Given the description of an element on the screen output the (x, y) to click on. 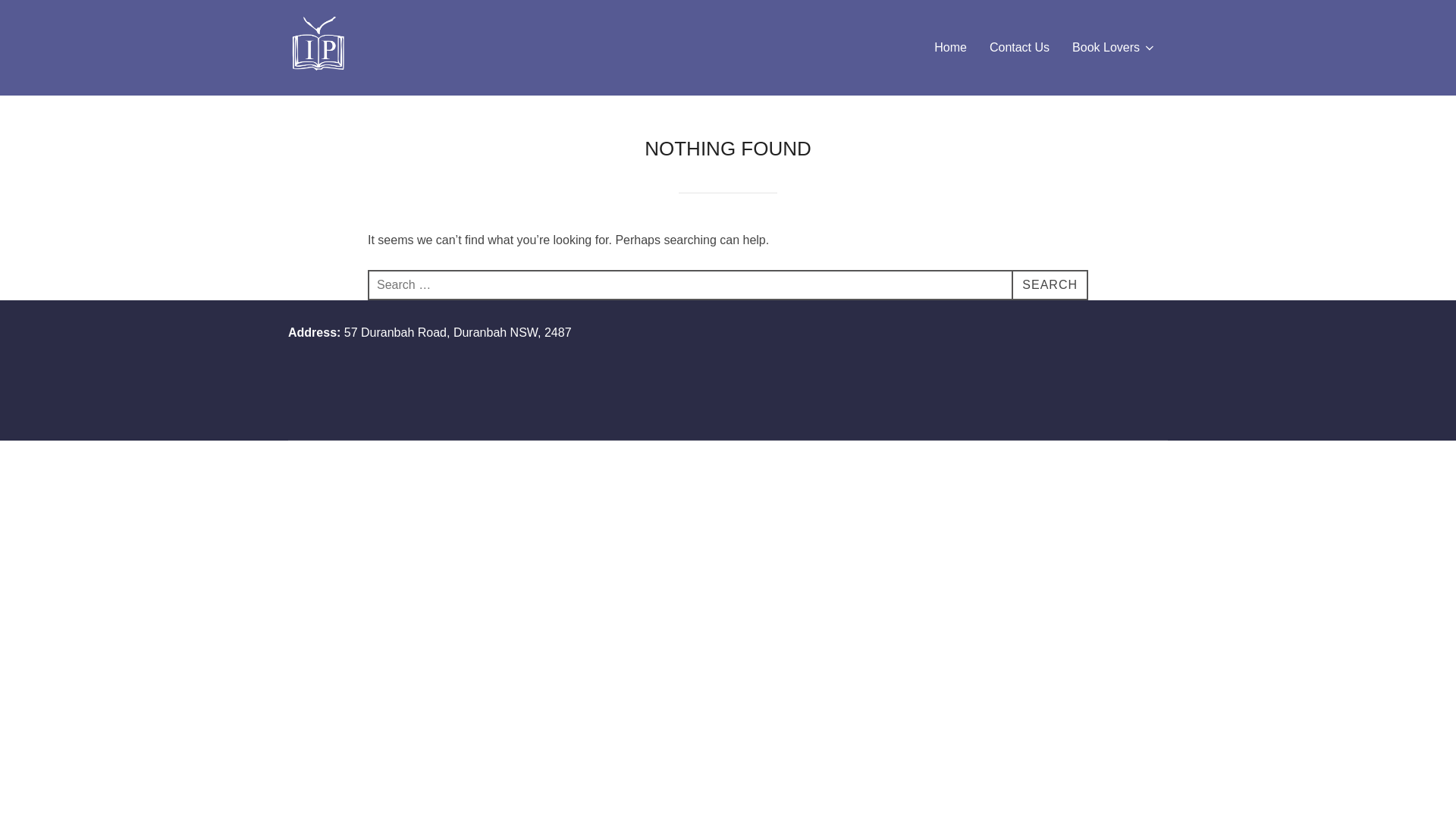
Contact Us Element type: text (1019, 47)
SEARCH Element type: text (1049, 284)
Book Lovers Element type: text (1114, 47)
Home Element type: text (950, 47)
